Given the description of an element on the screen output the (x, y) to click on. 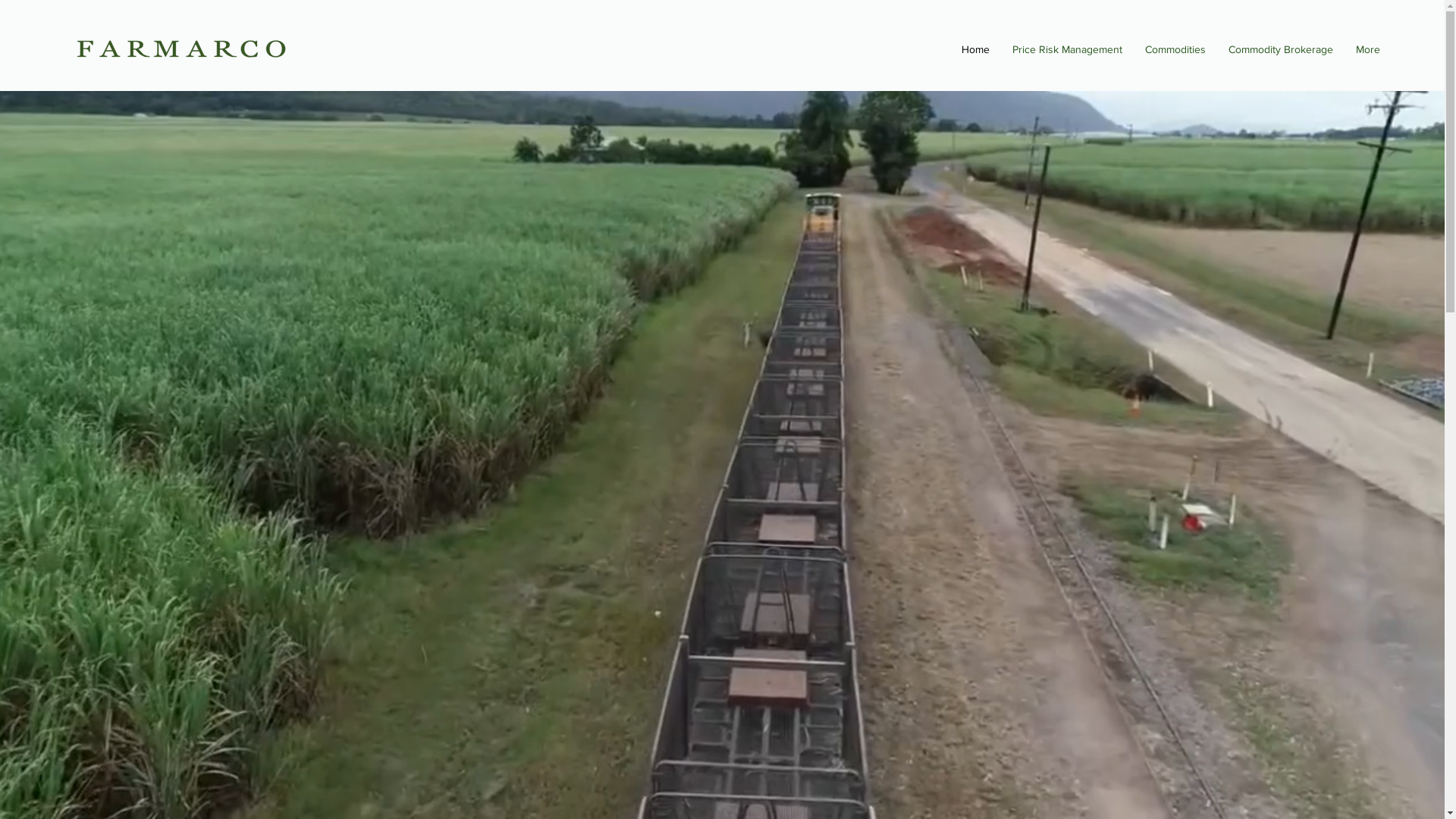
Price Risk Management Element type: text (1067, 48)
Home Element type: text (975, 48)
Commodities Element type: text (1175, 48)
Commodity Brokerage Element type: text (1280, 48)
